Given the description of an element on the screen output the (x, y) to click on. 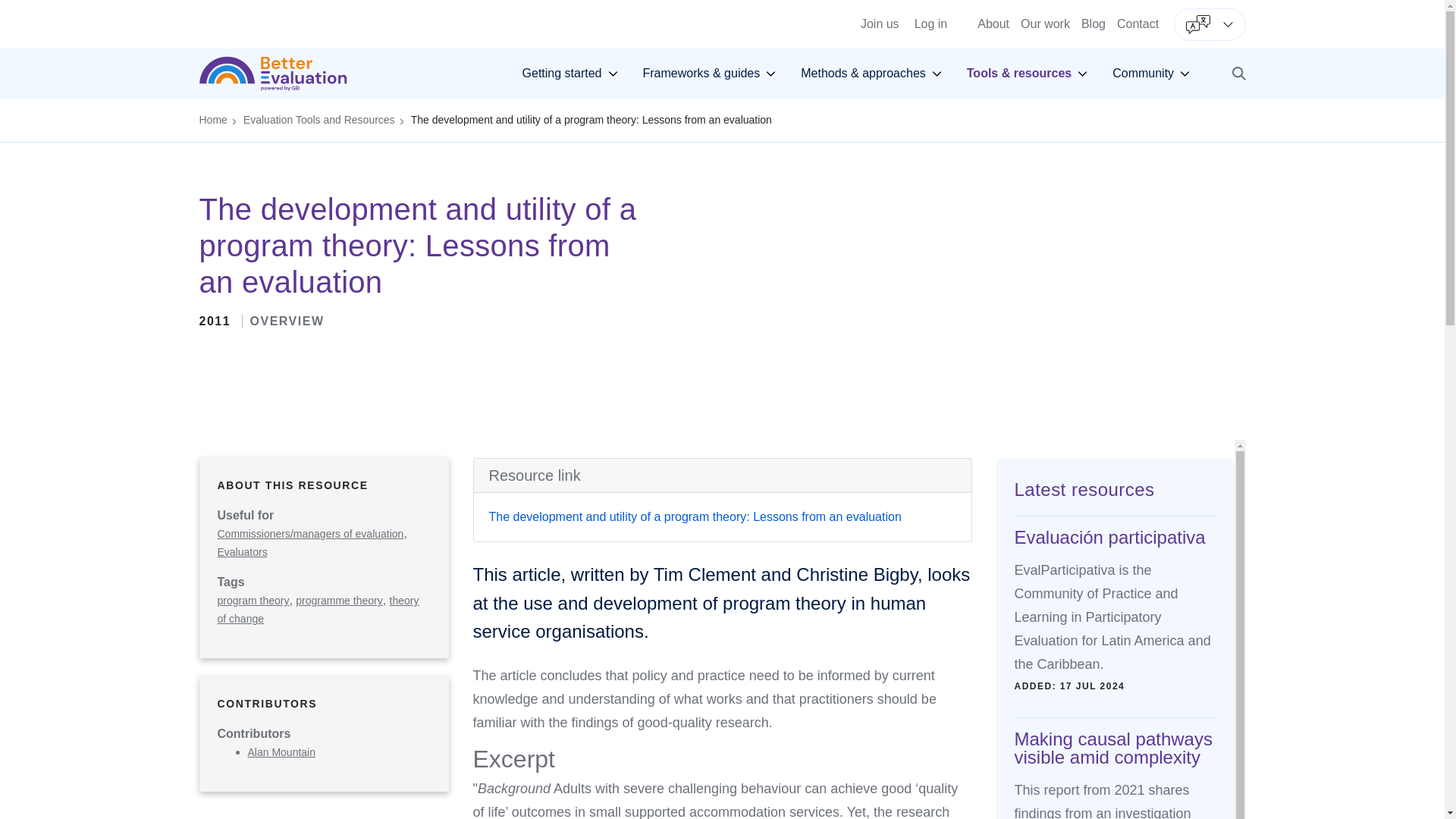
Contact (1137, 23)
Blog (1093, 23)
Log in (930, 24)
About (570, 73)
Our work (992, 23)
Skip to main content (1045, 23)
Join us (722, 5)
